Given the description of an element on the screen output the (x, y) to click on. 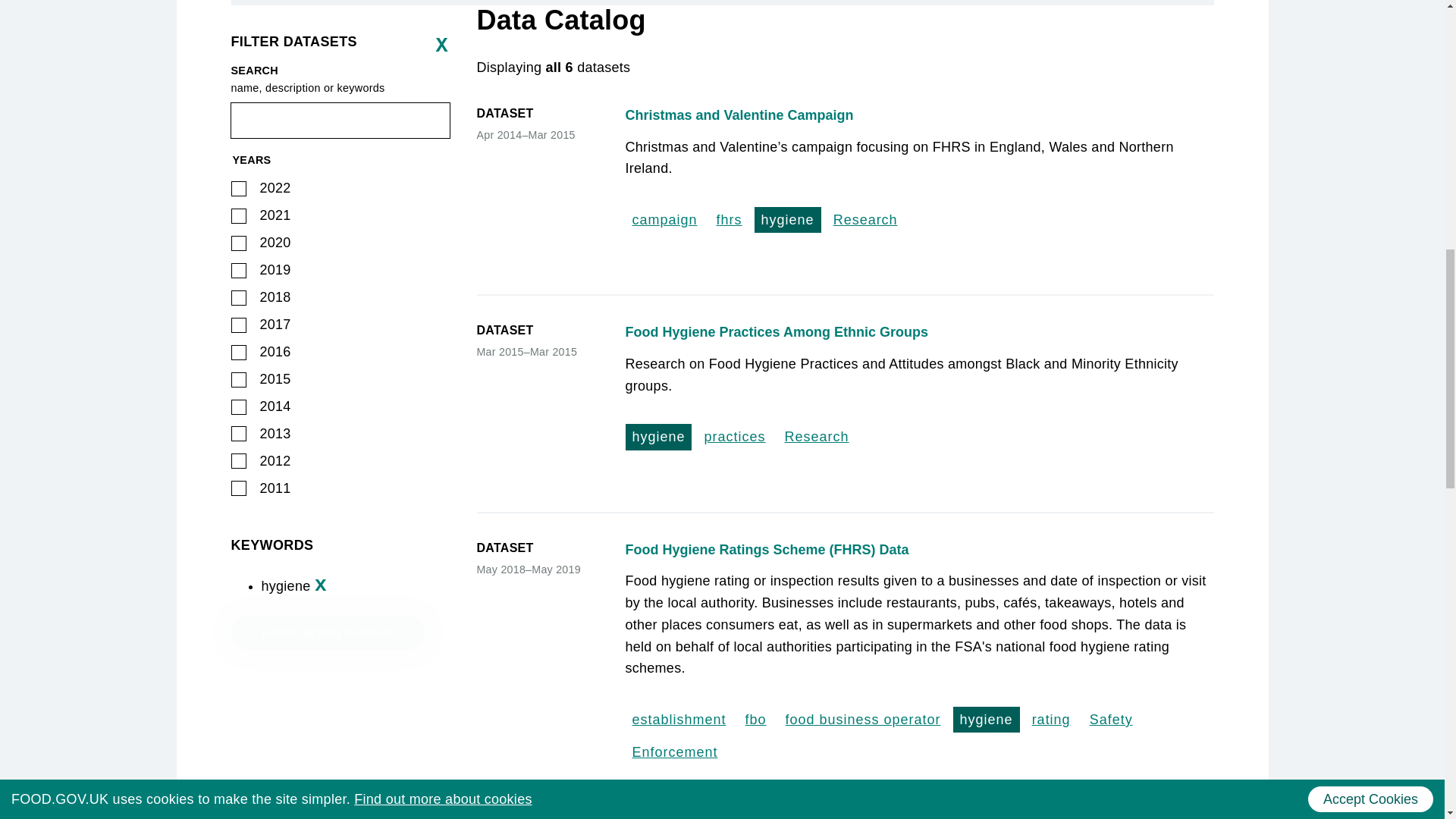
rating (1051, 719)
Research (865, 219)
Enforcement (673, 751)
food business operator (862, 719)
fhrs (729, 219)
Safety (1111, 719)
Christmas and Valentine Campaign (918, 115)
Food Hygiene Practices Among Ethnic Groups (918, 332)
